Given the description of an element on the screen output the (x, y) to click on. 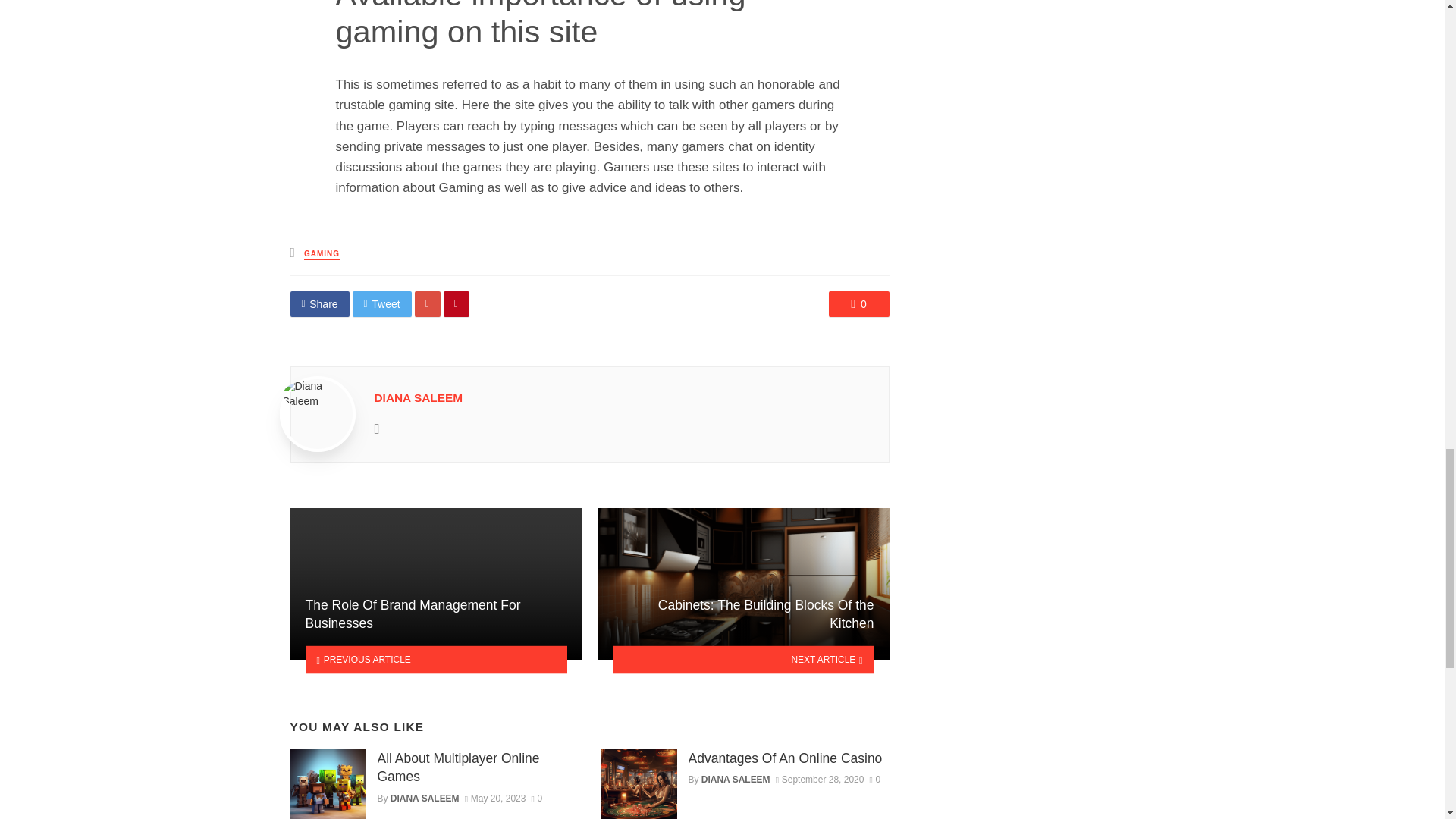
0 Comments (858, 303)
DIANA SALEEM (418, 397)
Share on Twitter (382, 303)
Tweet (382, 303)
Share (319, 303)
GAMING (321, 254)
PREVIOUS ARTICLE (434, 659)
All About Multiplayer Online Games (477, 767)
NEXT ARTICLE (742, 659)
Share on Pinterest (456, 303)
